Given the description of an element on the screen output the (x, y) to click on. 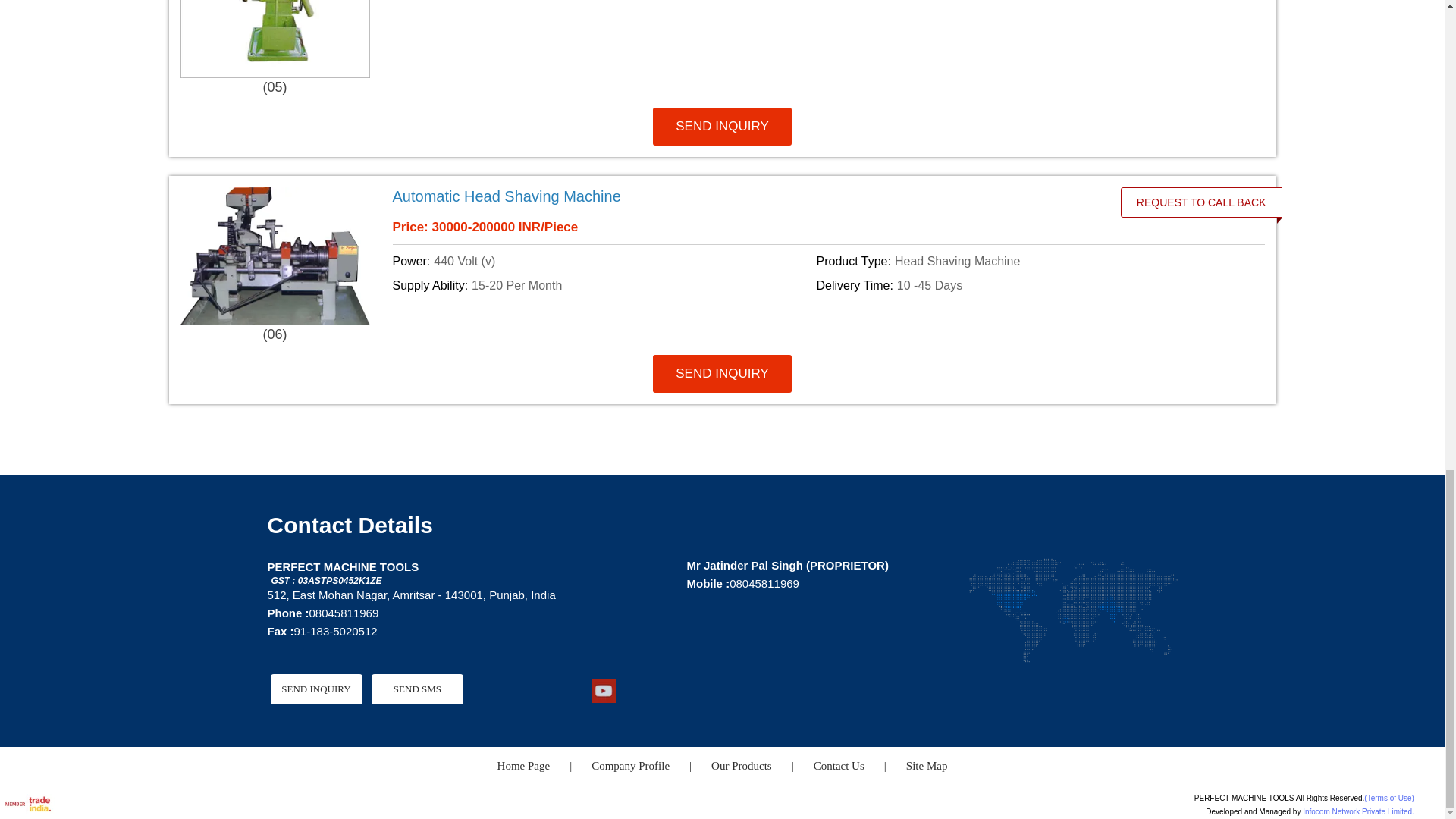
SEND INQUIRY (722, 126)
SEND SMS (416, 689)
Automatic Head Shaving Machine (741, 196)
REQUEST TO CALL BACK (1201, 202)
Delivery Time: 10 -45 Days (1024, 285)
SEND INQUIRY (315, 689)
Home Page (523, 766)
Automatic Head Shaving Machine (507, 196)
SEND INQUIRY (722, 373)
Product Type: Head Shaving Machine (1024, 261)
Supply Ability: 15-20 Per Month (601, 285)
Company Profile (630, 766)
